Given the description of an element on the screen output the (x, y) to click on. 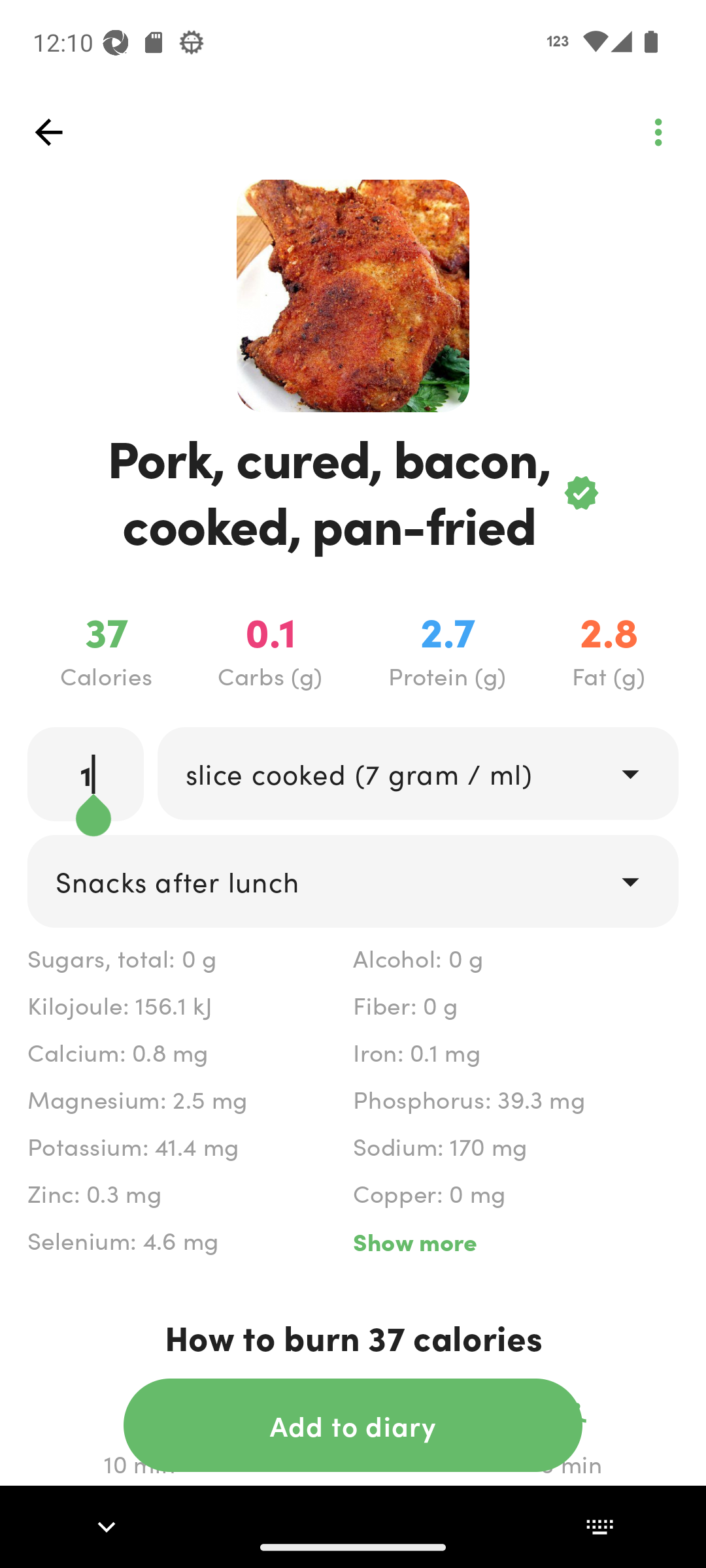
top_left_action (48, 132)
top_left_action (658, 132)
1 labeled_edit_text (85, 774)
drop_down slice cooked (7 gram / ml) (417, 773)
drop_down Snacks after lunch (352, 881)
Show more (515, 1240)
action_button Add to diary (352, 1425)
